Given the description of an element on the screen output the (x, y) to click on. 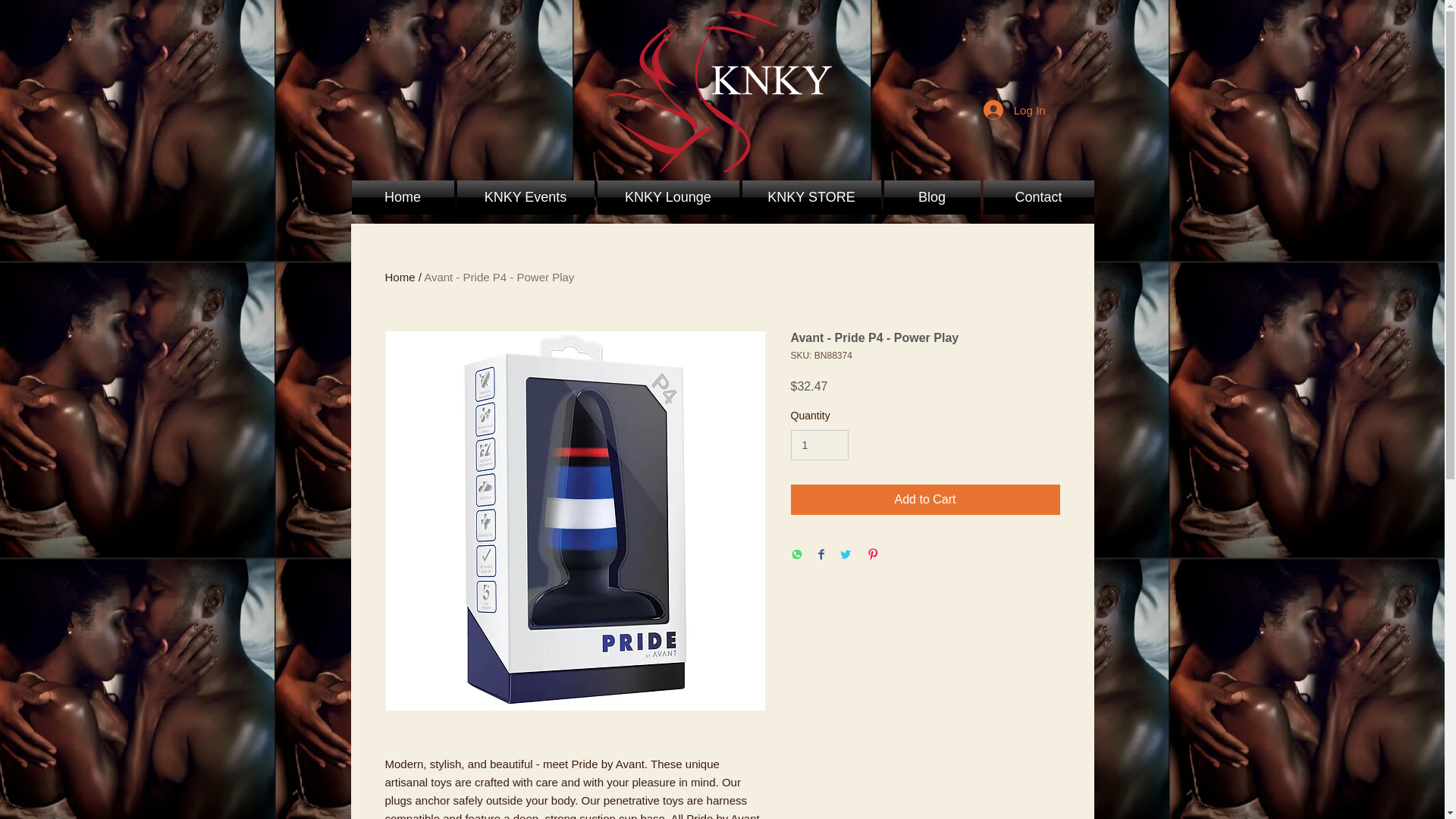
Blog (931, 197)
KNKY Events (524, 197)
Home (399, 277)
Add to Cart (924, 499)
Log In (1014, 109)
Contact (1037, 197)
Home (403, 197)
KNKY Lounge (668, 197)
Avant - Pride P4 - Power Play (498, 277)
KNKY STORE (810, 197)
